Given the description of an element on the screen output the (x, y) to click on. 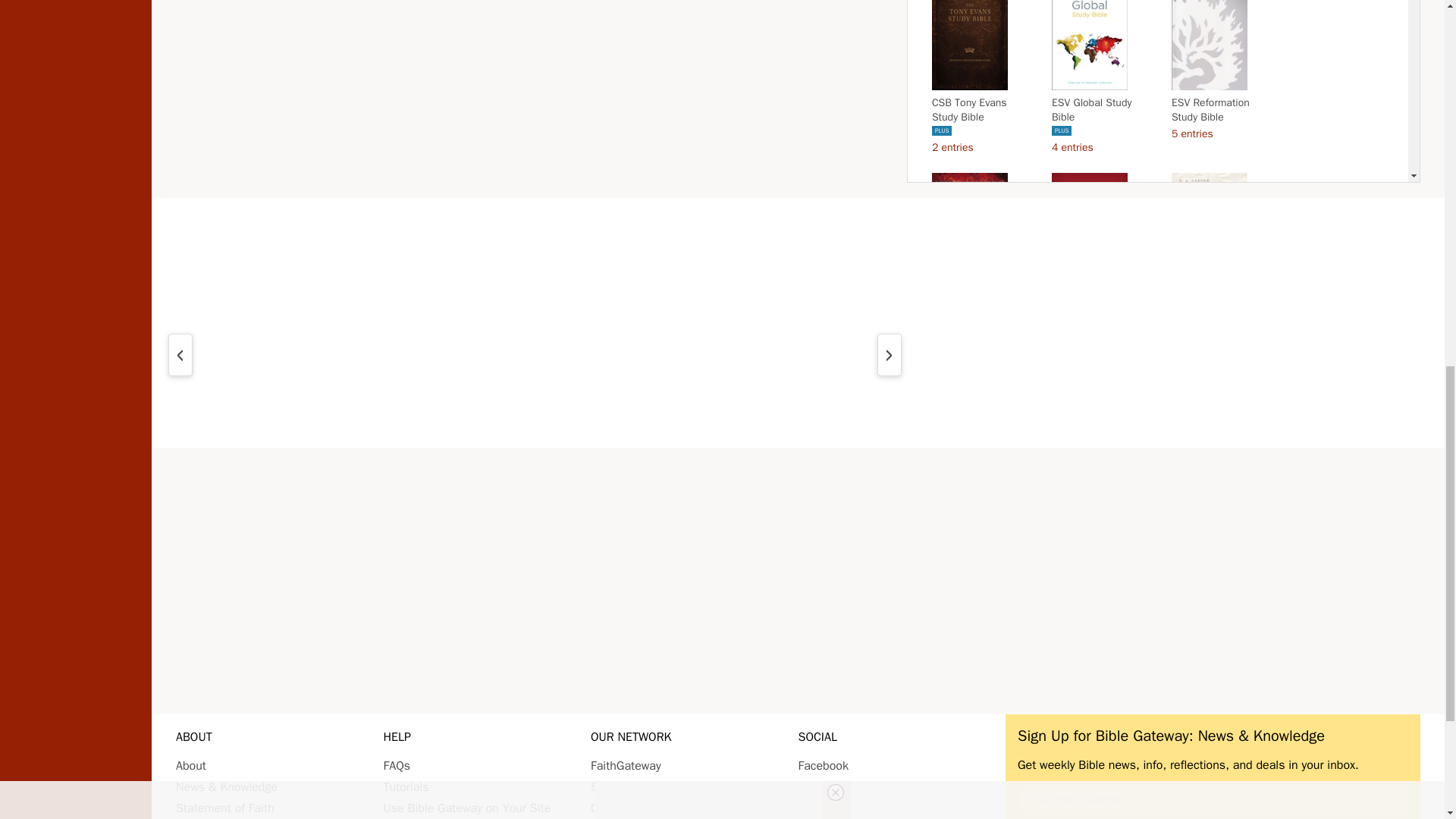
3rd party ad content (797, 572)
3rd party ad content (797, 323)
